Given the description of an element on the screen output the (x, y) to click on. 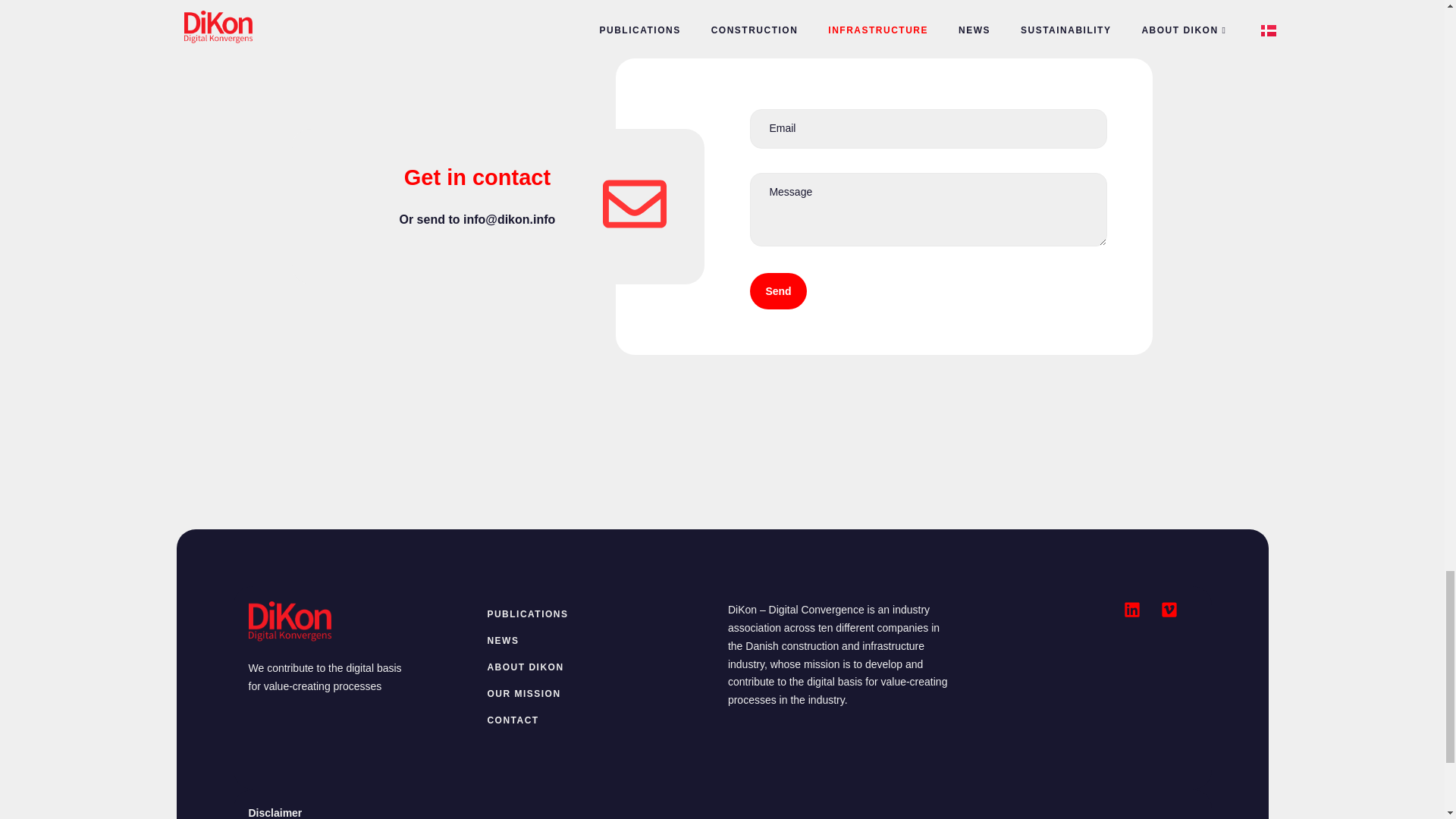
Send (927, 206)
NEWS (599, 641)
PUBLICATIONS (599, 614)
CONTACT (599, 720)
OUR MISSION (599, 693)
ABOUT DIKON (599, 667)
Send (777, 290)
